Given the description of an element on the screen output the (x, y) to click on. 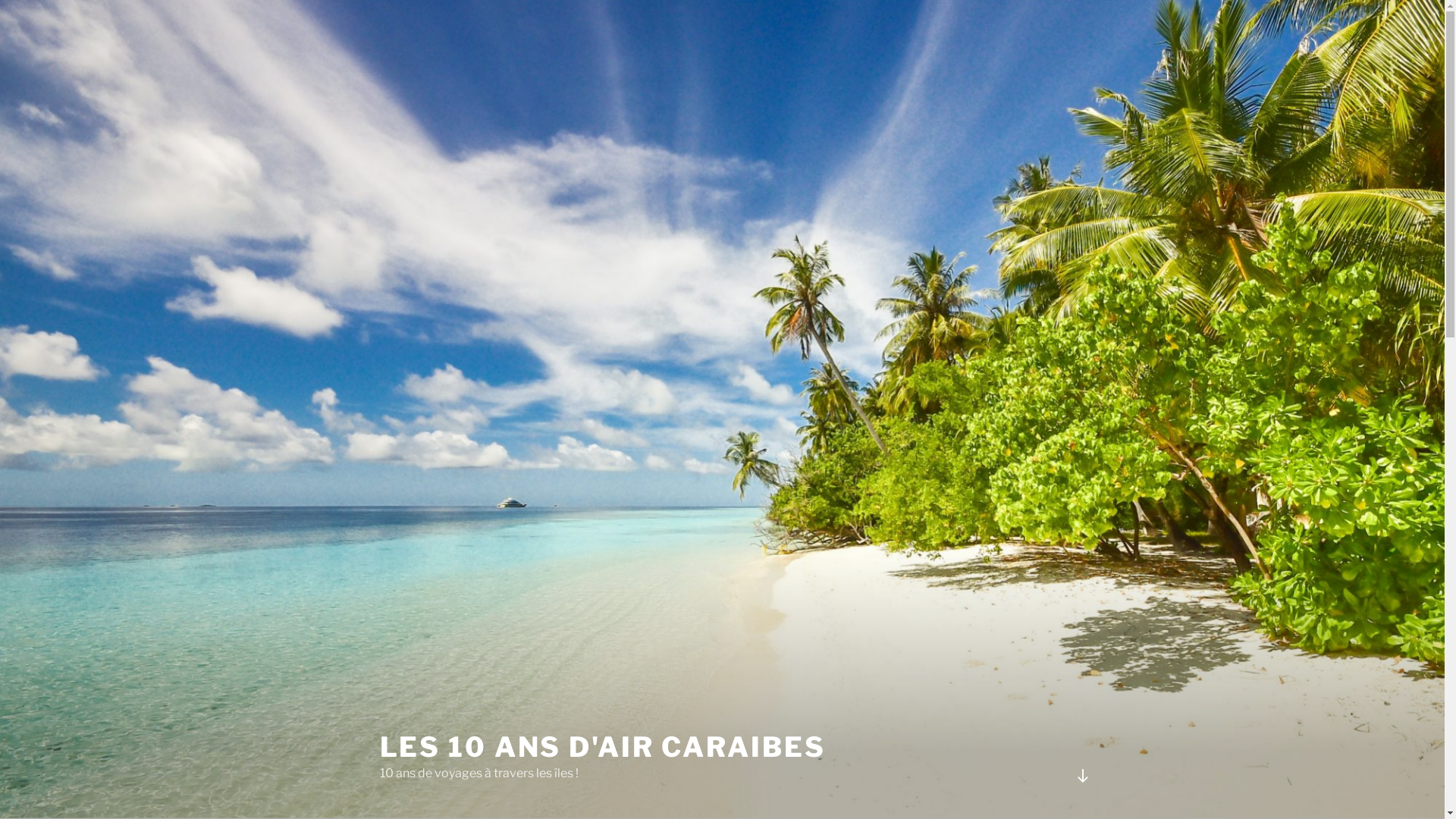
LES 10 ANS D'AIR CARAIBES Element type: text (602, 746)
Descendre au contenu Element type: text (1082, 775)
